Given the description of an element on the screen output the (x, y) to click on. 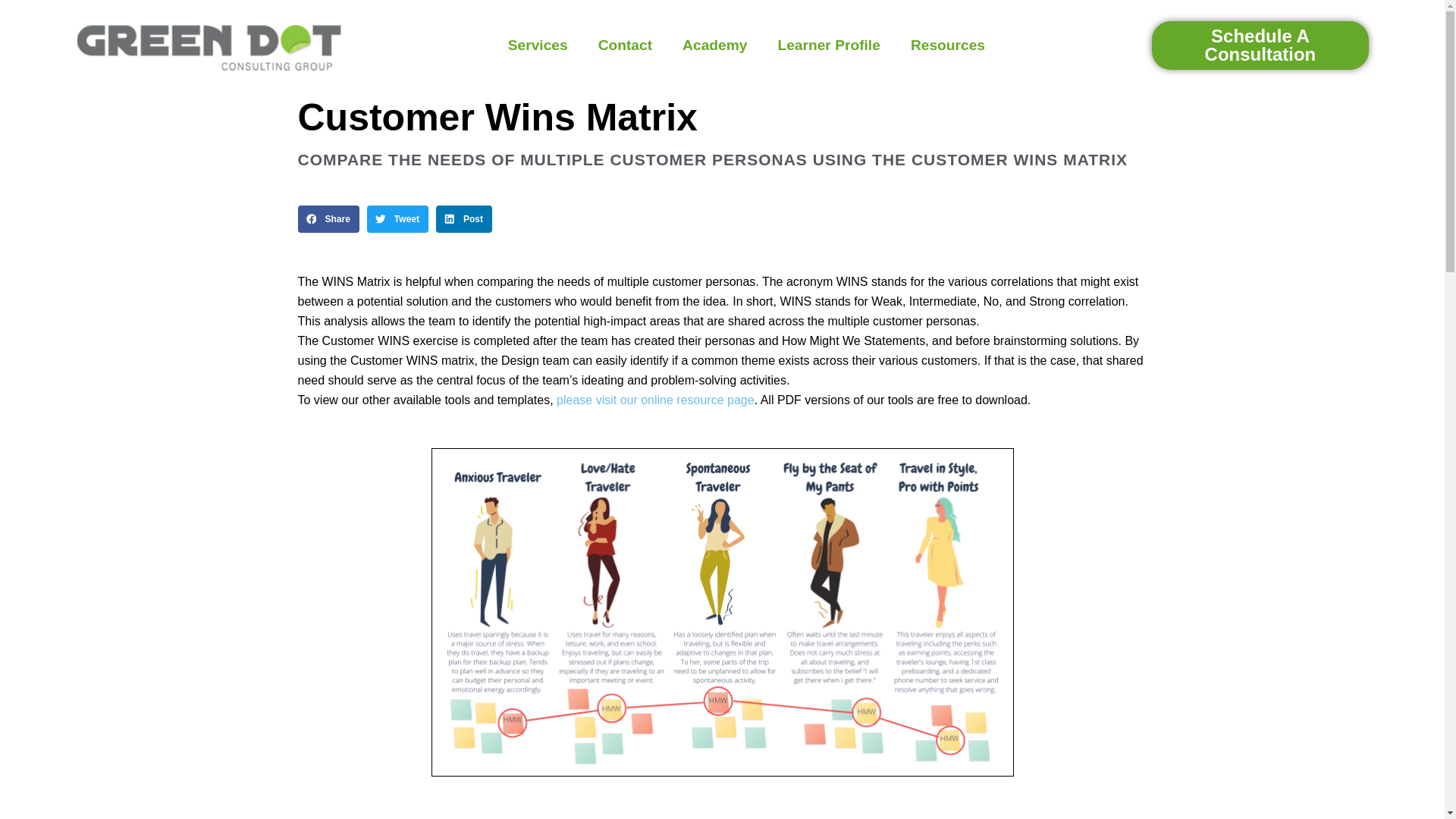
Learner Profile (828, 45)
Contact (624, 45)
Academy (713, 45)
Resources (947, 45)
Services (538, 45)
Schedule A Consultation (1259, 44)
